Given the description of an element on the screen output the (x, y) to click on. 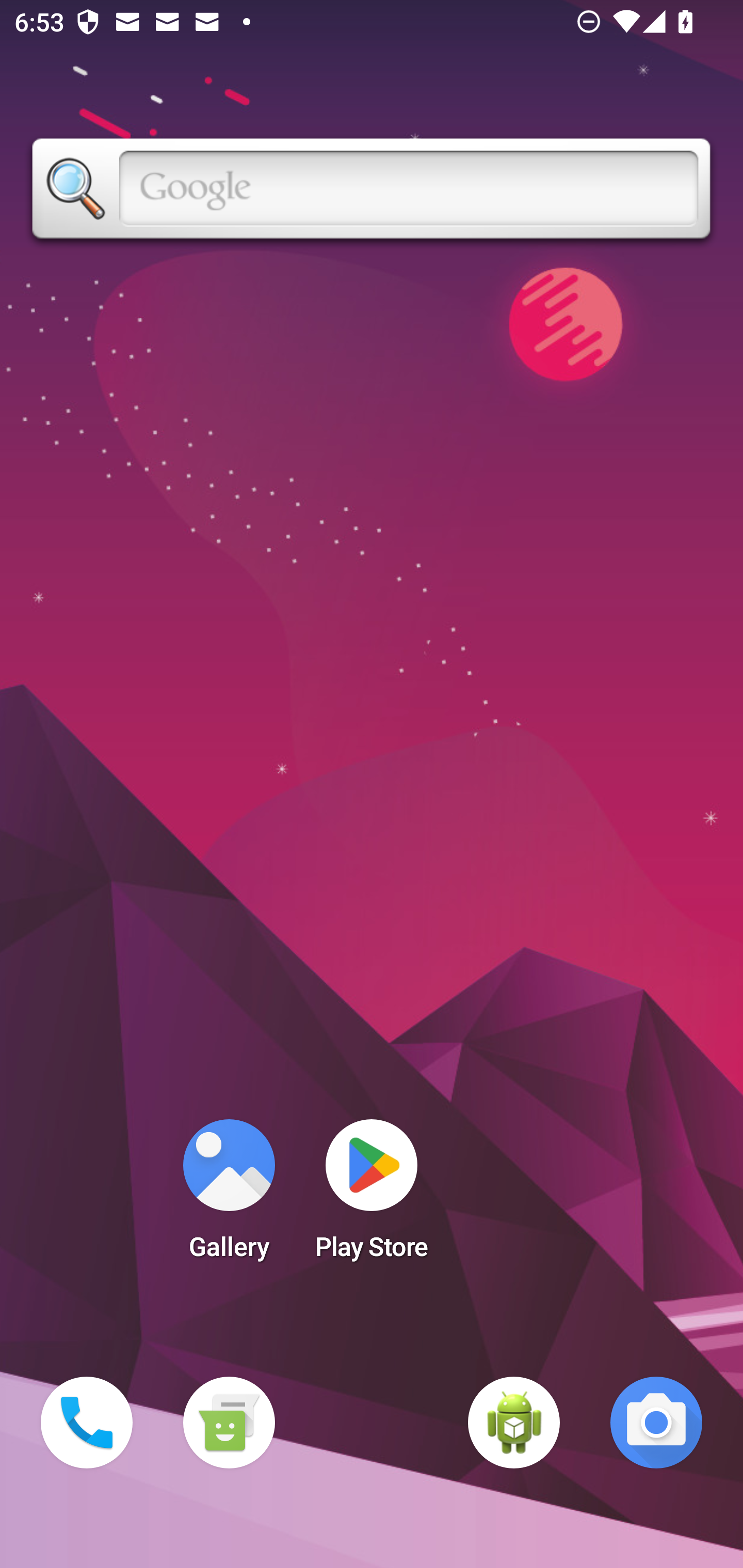
Gallery (228, 1195)
Play Store (371, 1195)
Phone (86, 1422)
Messaging (228, 1422)
WebView Browser Tester (513, 1422)
Camera (656, 1422)
